Given the description of an element on the screen output the (x, y) to click on. 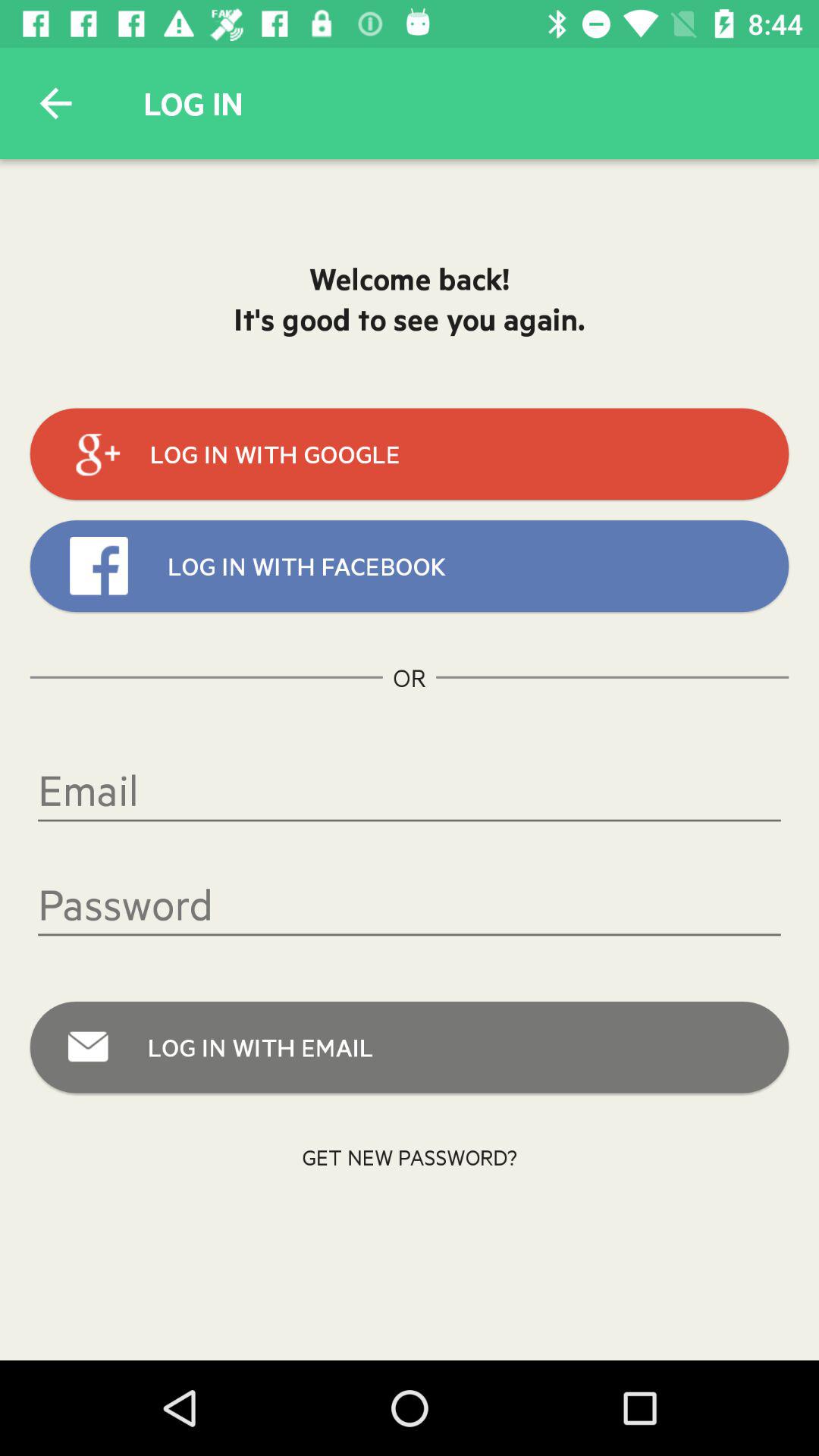
turn off the get new password? item (409, 1156)
